Given the description of an element on the screen output the (x, y) to click on. 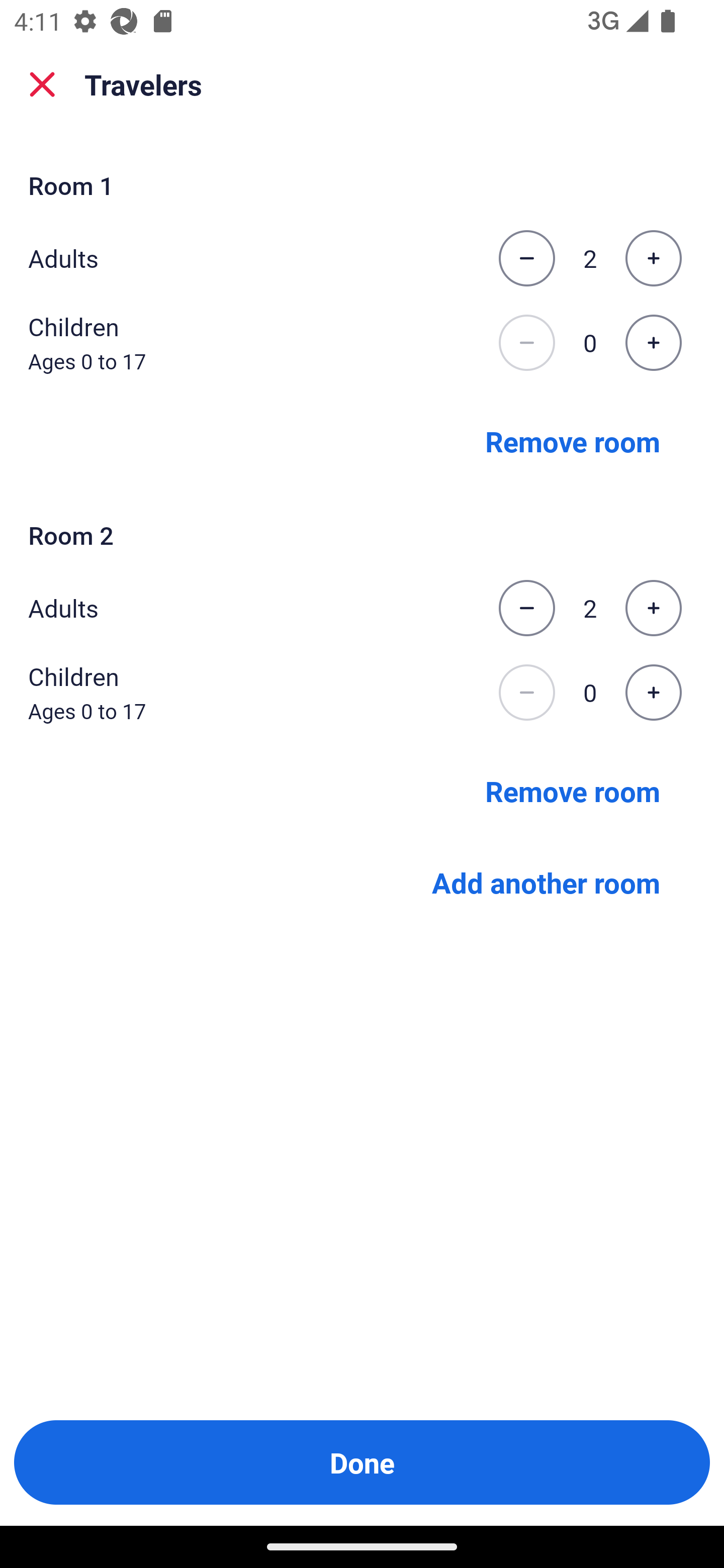
close (42, 84)
Decrease the number of adults (526, 258)
Increase the number of adults (653, 258)
Decrease the number of children (526, 343)
Increase the number of children (653, 343)
Remove room (572, 440)
Decrease the number of adults (526, 608)
Increase the number of adults (653, 608)
Decrease the number of children (526, 692)
Increase the number of children (653, 692)
Remove room (572, 790)
Add another room (545, 882)
Done (361, 1462)
